Given the description of an element on the screen output the (x, y) to click on. 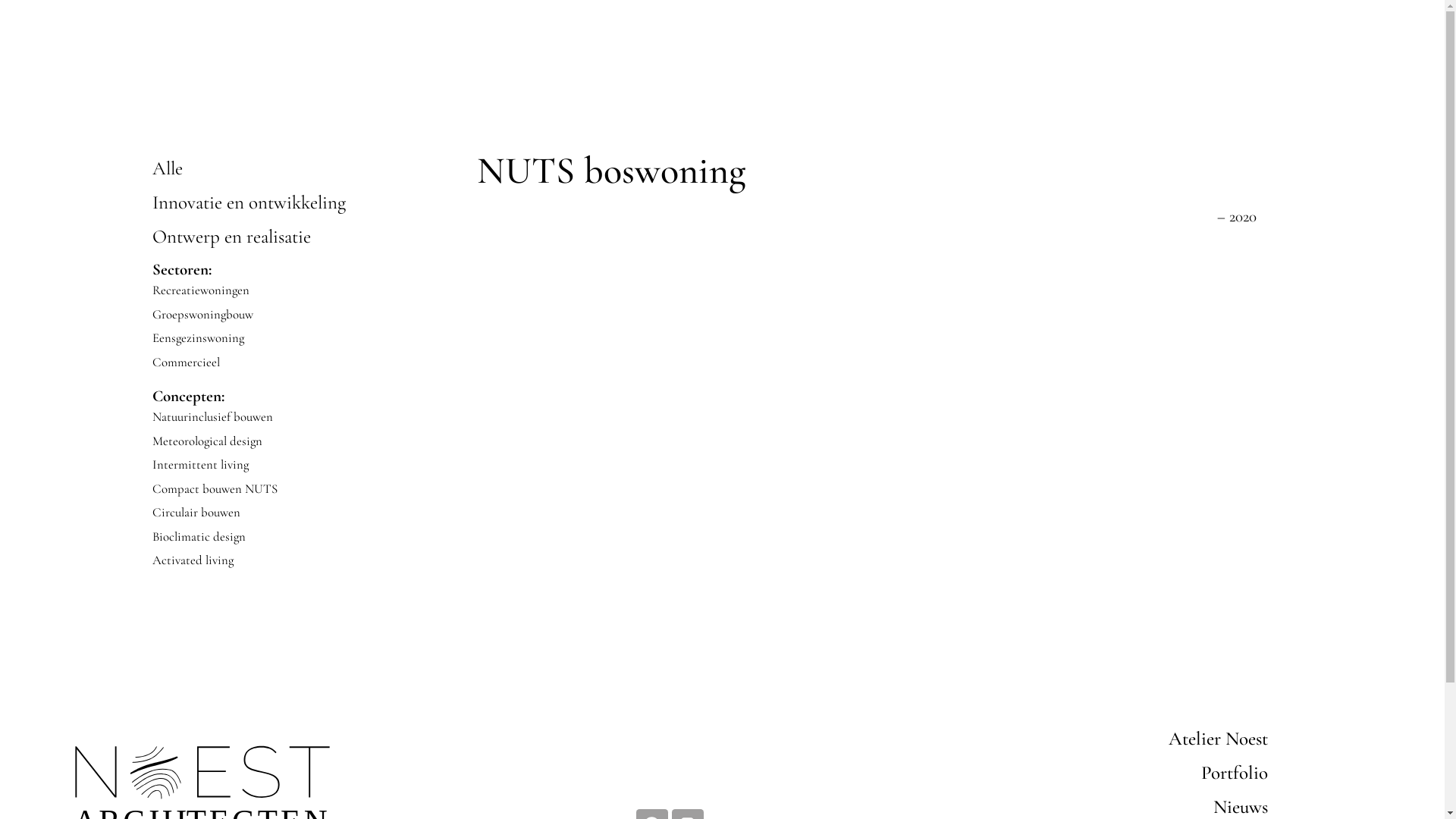
Innovatie en ontwikkeling Element type: text (248, 202)
Circulair bouwen Element type: text (195, 512)
Alle Element type: text (166, 167)
Commercieel Element type: text (185, 361)
Groepswoningbouw Element type: text (201, 314)
Recreatiewoningen Element type: text (199, 290)
Bioclimatic design Element type: text (197, 535)
Activated living Element type: text (191, 559)
Intermittent living Element type: text (199, 464)
Ontwerp en realisatie Element type: text (230, 236)
Meteorological design Element type: text (206, 440)
Eensgezinswoning Element type: text (197, 337)
Atelier Noest Element type: text (1137, 738)
Nieuws Element type: text (1137, 806)
Compact bouwen NUTS Element type: text (213, 488)
Natuurinclusief bouwen Element type: text (211, 416)
Portfolio Element type: text (1137, 771)
